Given the description of an element on the screen output the (x, y) to click on. 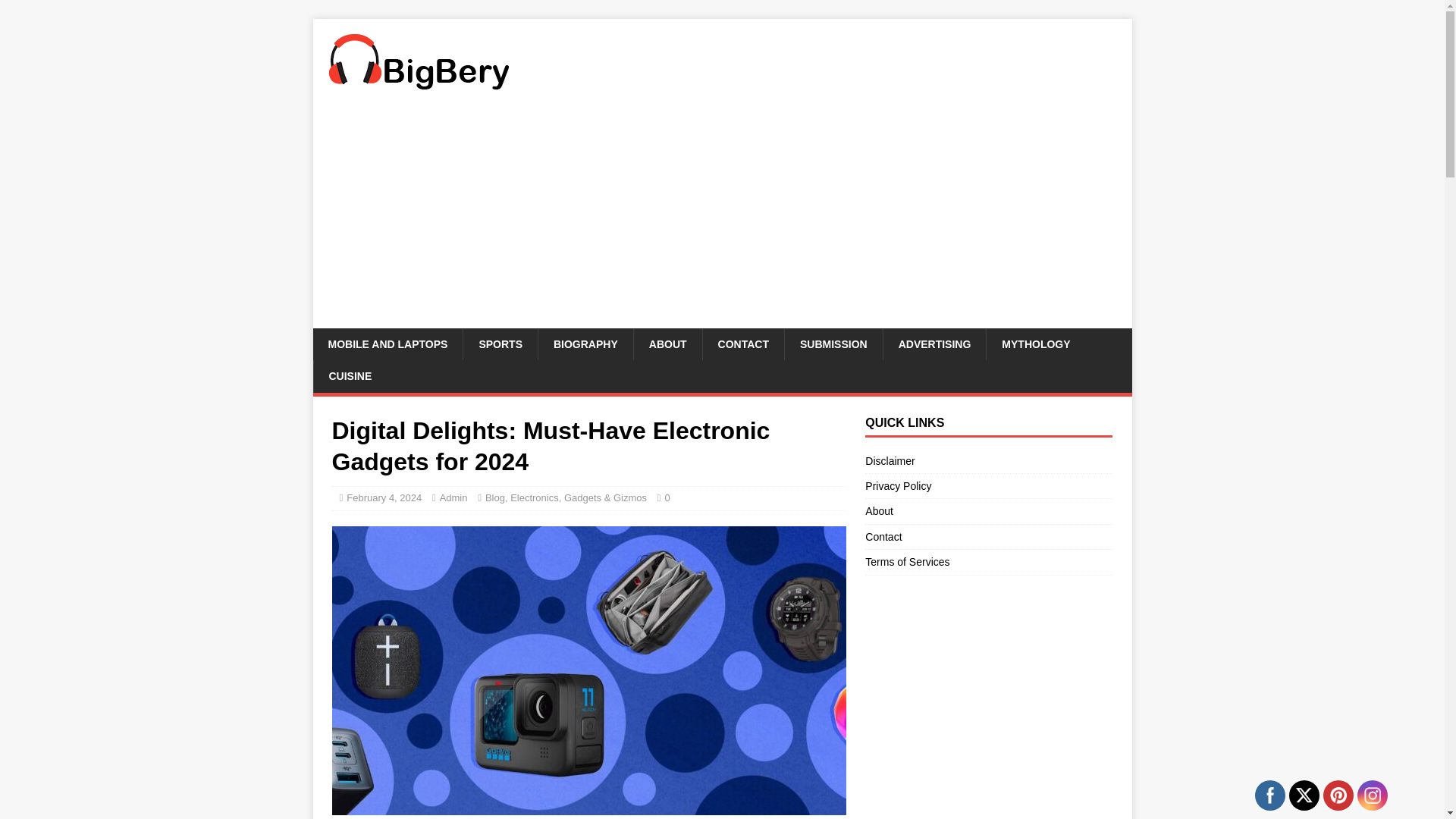
MOBILE AND LAPTOPS (388, 344)
CONTACT (742, 344)
February 4, 2024 (384, 497)
Electronics (535, 497)
MYTHOLOGY (1034, 344)
Admin (453, 497)
SPORTS (500, 344)
Blog (494, 497)
SUBMISSION (833, 344)
CUISINE (350, 376)
BIOGRAPHY (585, 344)
ADVERTISING (934, 344)
